Given the description of an element on the screen output the (x, y) to click on. 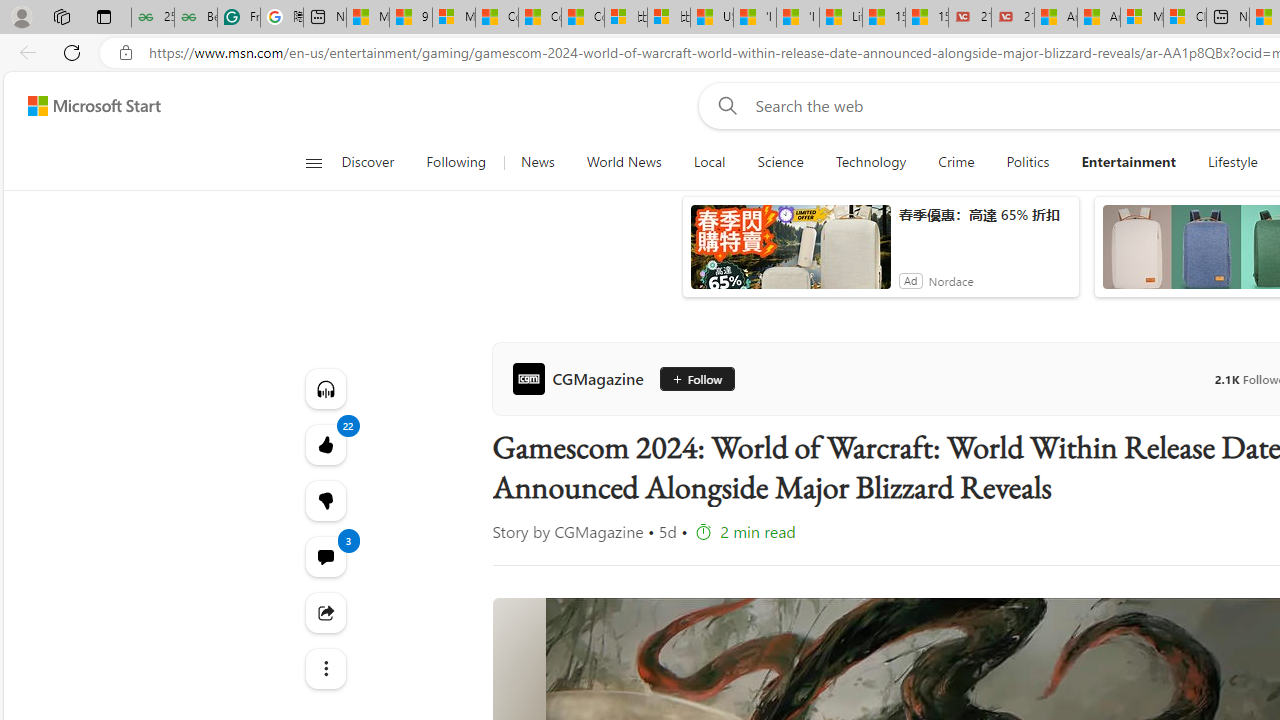
CGMagazine (581, 378)
anim-content (789, 255)
25 Basic Linux Commands For Beginners - GeeksforGeeks (152, 17)
15 Ways Modern Life Contradicts the Teachings of Jesus (927, 17)
Class: at-item (324, 668)
22 (324, 500)
